Given the description of an element on the screen output the (x, y) to click on. 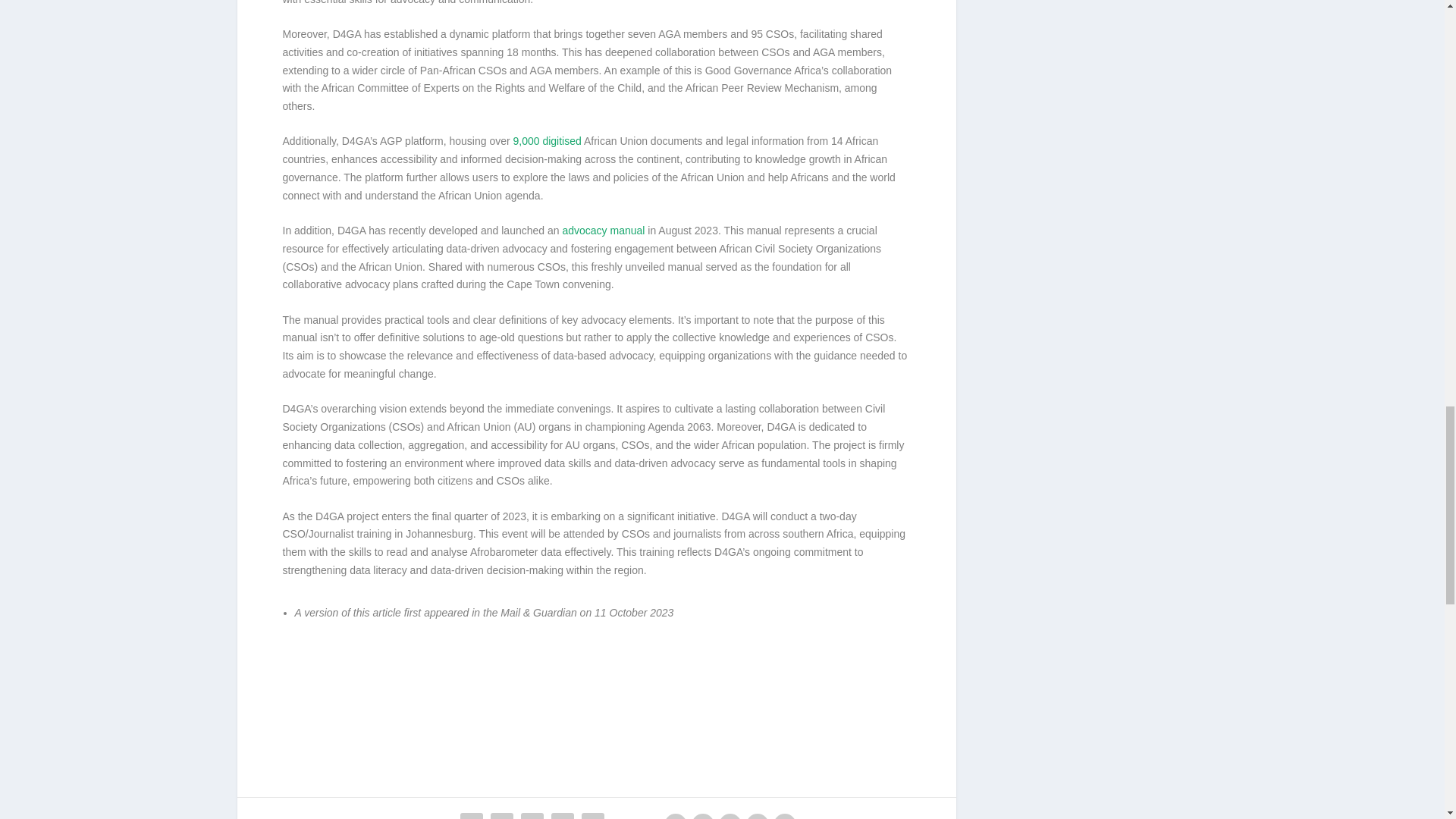
Share "Why data matters for governance" via Twitter (501, 814)
regular (730, 816)
Share "Why data matters for governance" via Facebook (471, 814)
bad (675, 816)
Share "Why data matters for governance" via LinkedIn (531, 814)
poor (702, 816)
gorgeous (784, 816)
Share "Why data matters for governance" via Stumbleupon (562, 814)
good (756, 816)
Share "Why data matters for governance" via Email (593, 814)
